Given the description of an element on the screen output the (x, y) to click on. 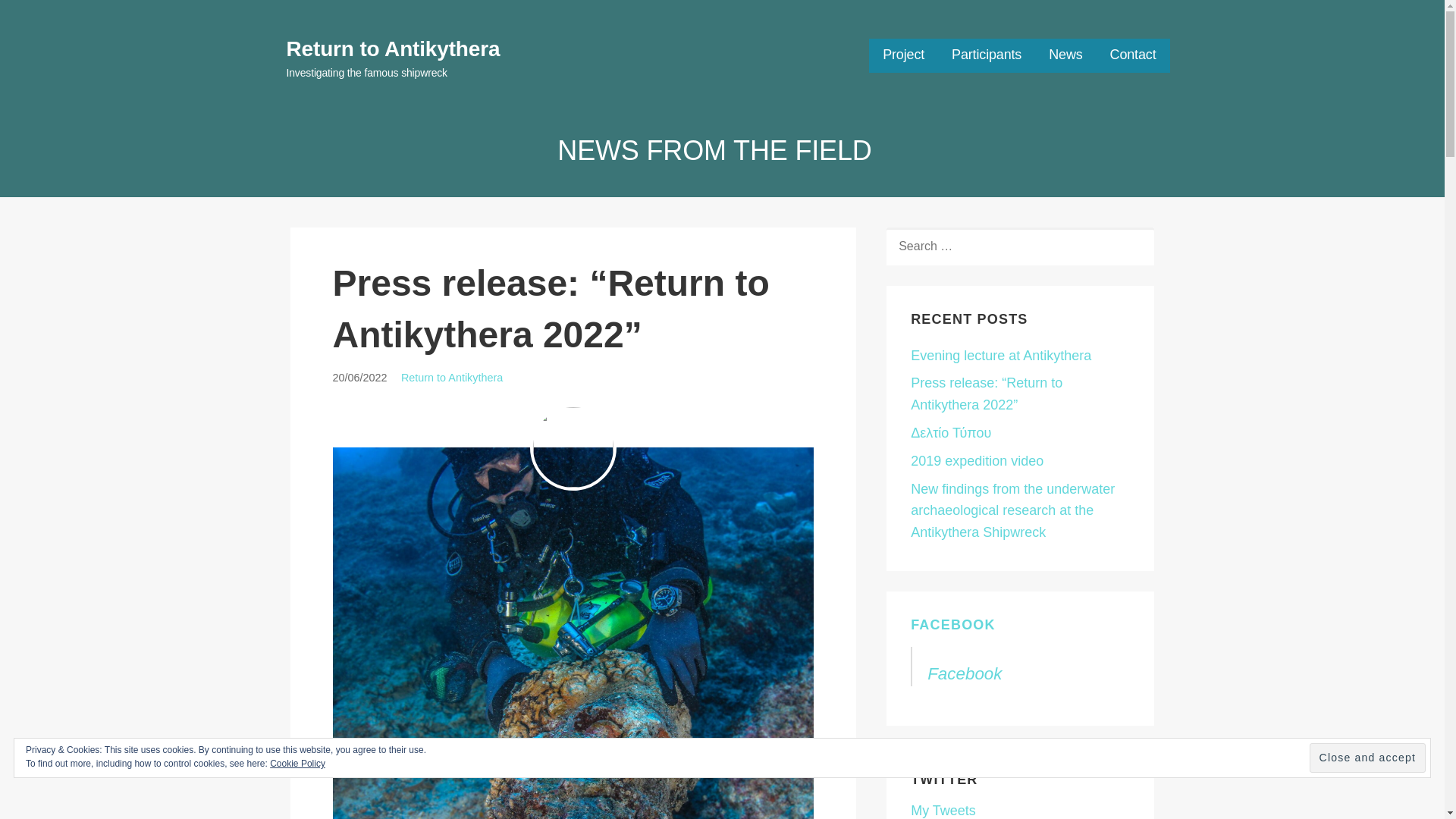
FACEBOOK (953, 624)
2019 expedition video (977, 460)
Facebook (964, 673)
Posts by Return to Antikythera (451, 377)
Return to Antikythera (393, 48)
Project (903, 55)
News (1064, 55)
Search (47, 17)
Evening lecture at Antikythera (1000, 355)
